Given the description of an element on the screen output the (x, y) to click on. 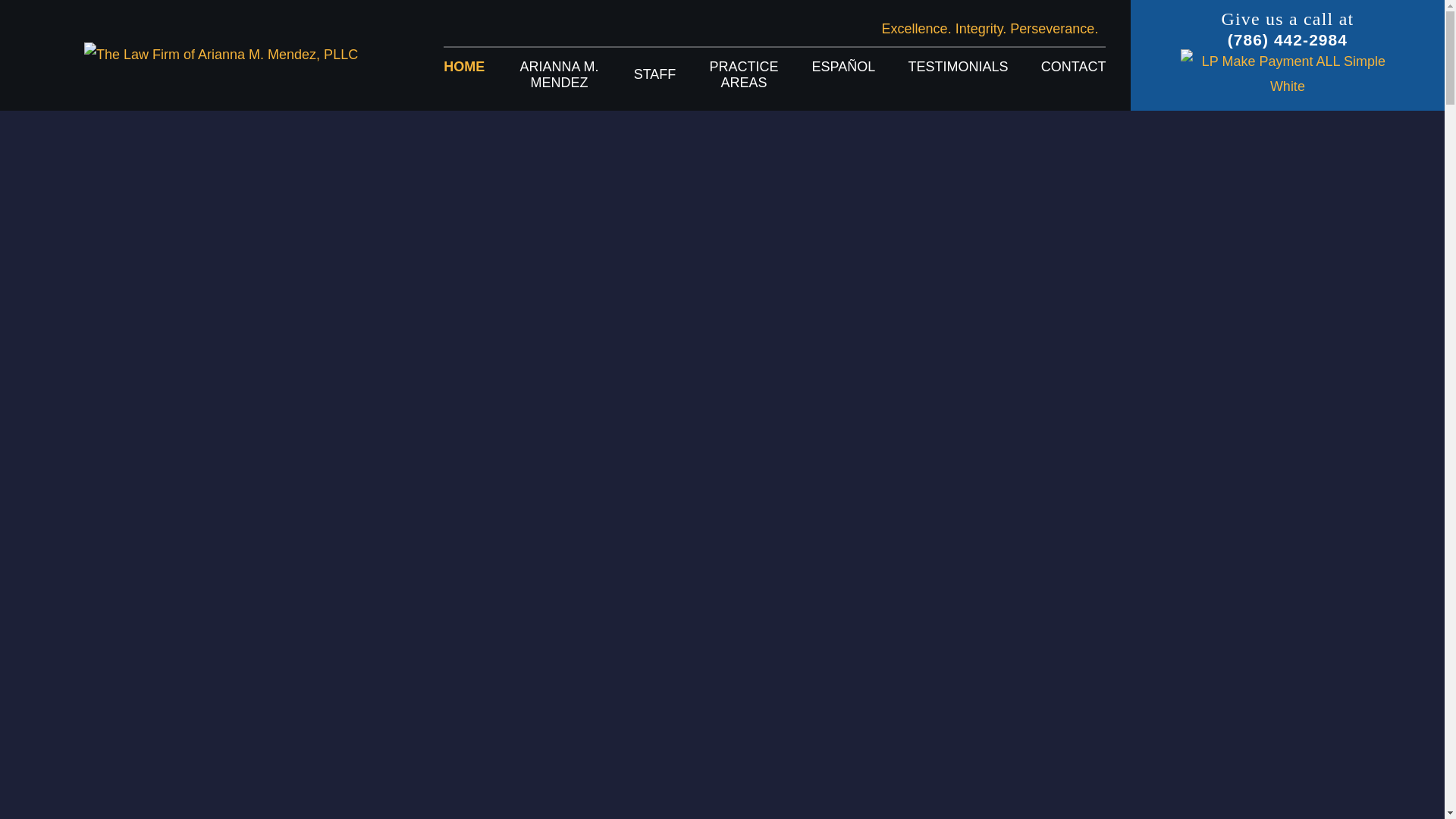
ARIANNA M. MENDEZ (557, 74)
STAFF (655, 75)
PRACTICE AREAS (743, 74)
CONTACT (1073, 74)
TESTIMONIALS (958, 74)
Open the accessibility options menu (1423, 798)
The Law Firm of Arianna M. Mendez, PLLC (221, 54)
